Given the description of an element on the screen output the (x, y) to click on. 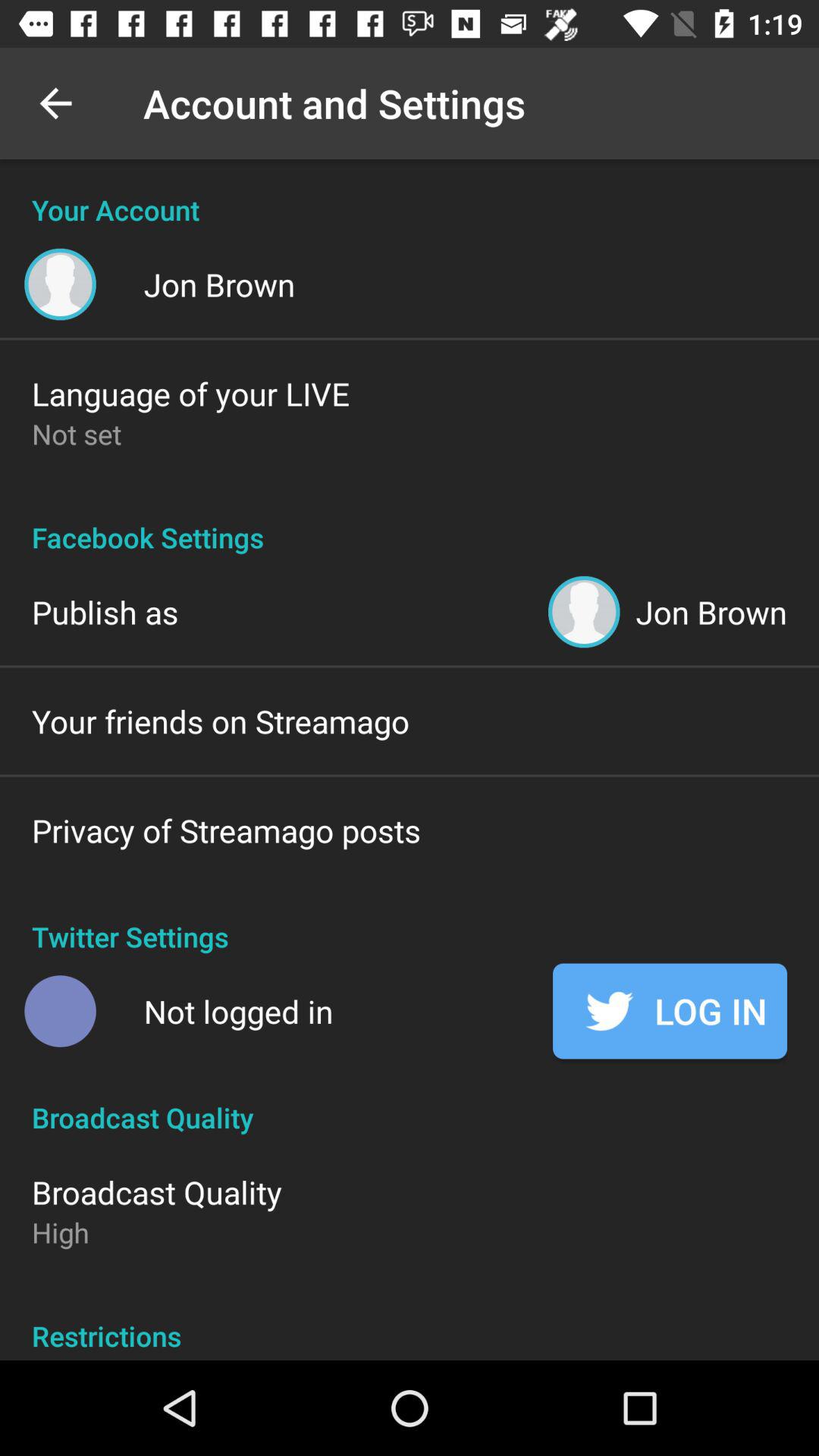
turn on item below the not set (409, 521)
